Given the description of an element on the screen output the (x, y) to click on. 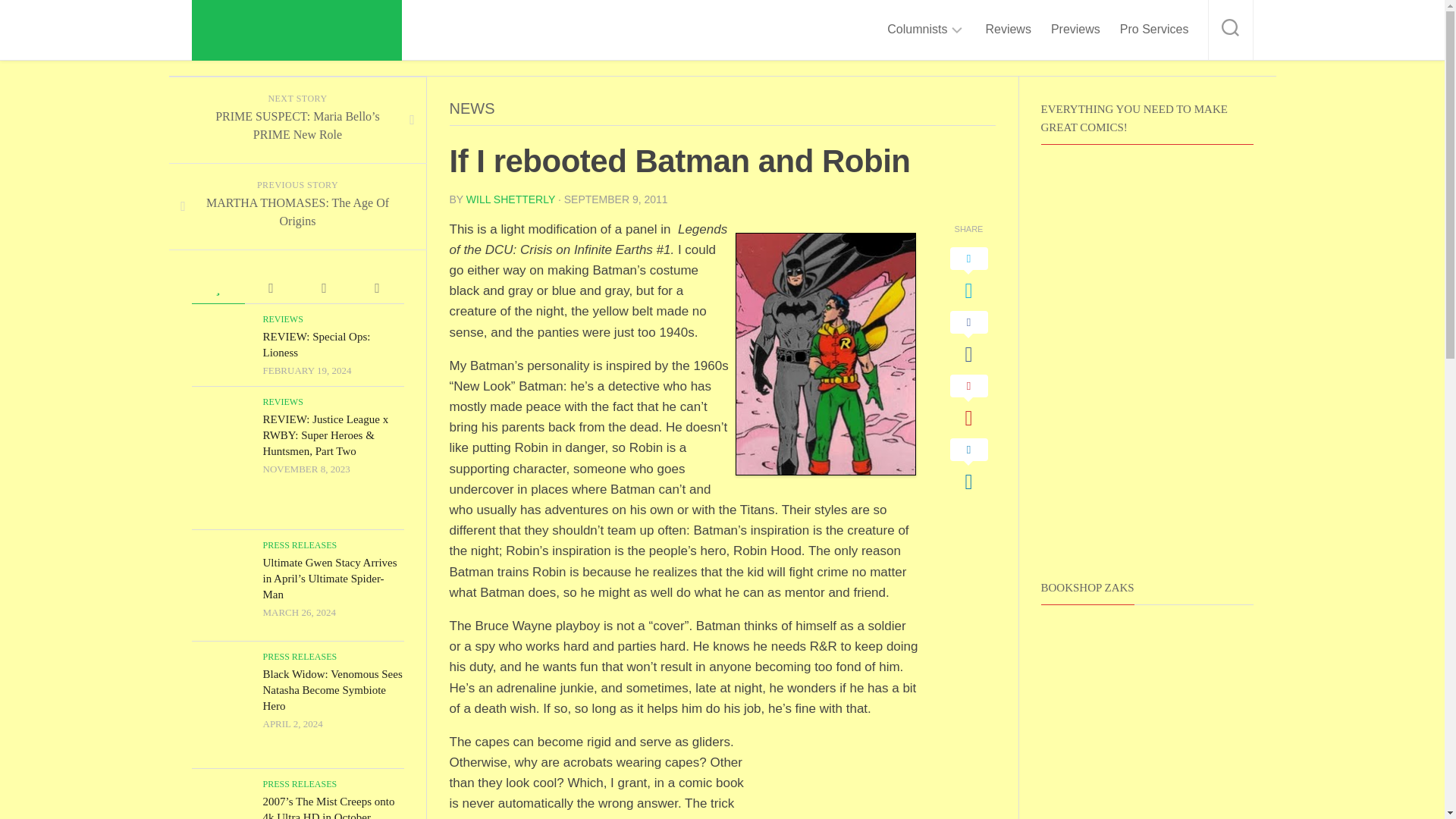
Pro Services (1154, 29)
Popular Posts (217, 287)
Reviews (1007, 29)
Recent Posts (323, 287)
NEWS (471, 108)
Columnists (916, 29)
WILL SHETTERLY (509, 199)
Previews (1075, 29)
Recent Comments (270, 287)
Posts by Will Shetterly (509, 199)
